Given the description of an element on the screen output the (x, y) to click on. 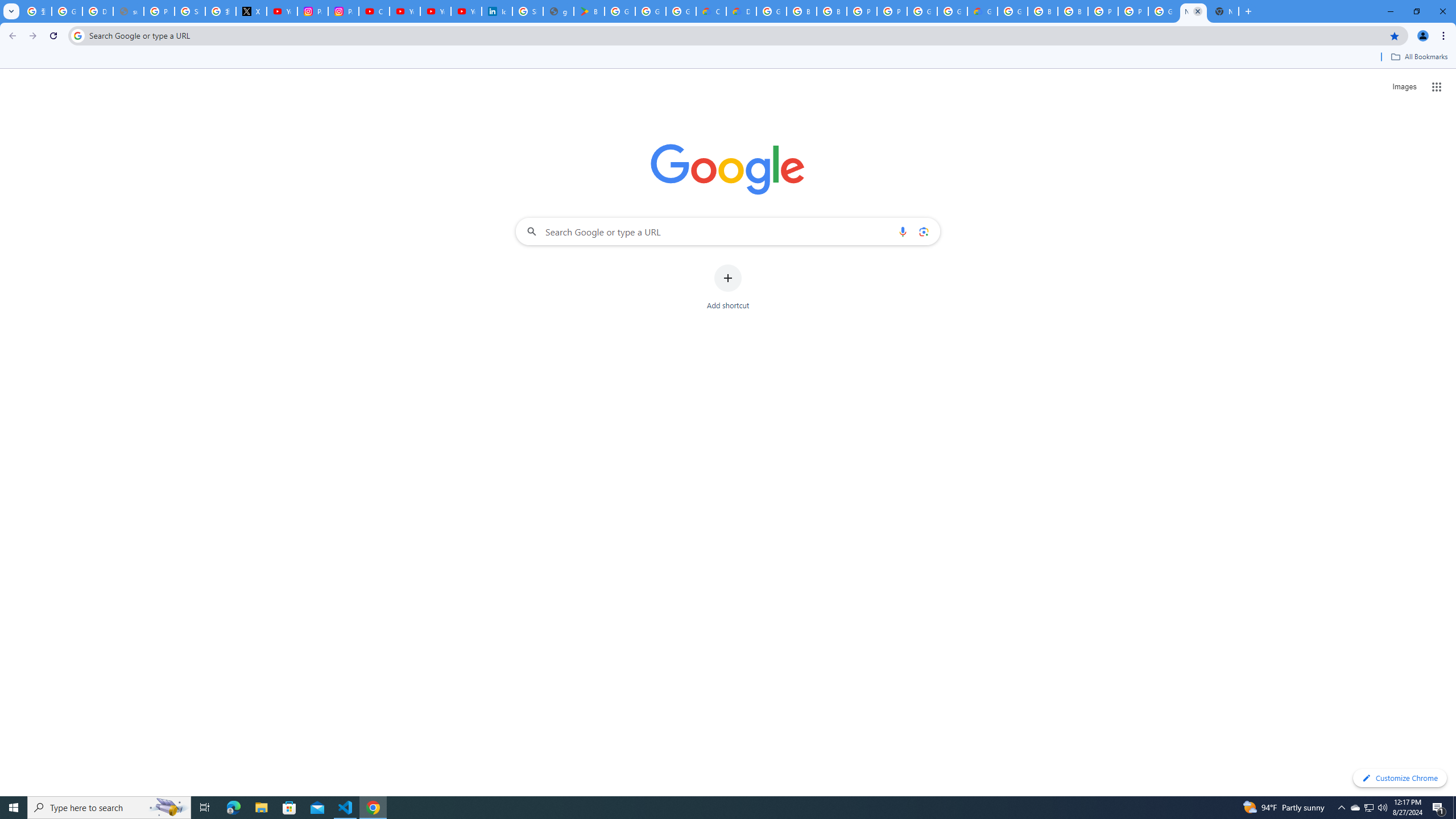
Google Cloud Platform (951, 11)
Customer Care | Google Cloud (710, 11)
Google Workspace - Specific Terms (650, 11)
Browse Chrome as a guest - Computer - Google Chrome Help (1042, 11)
google_privacy_policy_en.pdf (558, 11)
Search Google or type a URL (727, 230)
